Given the description of an element on the screen output the (x, y) to click on. 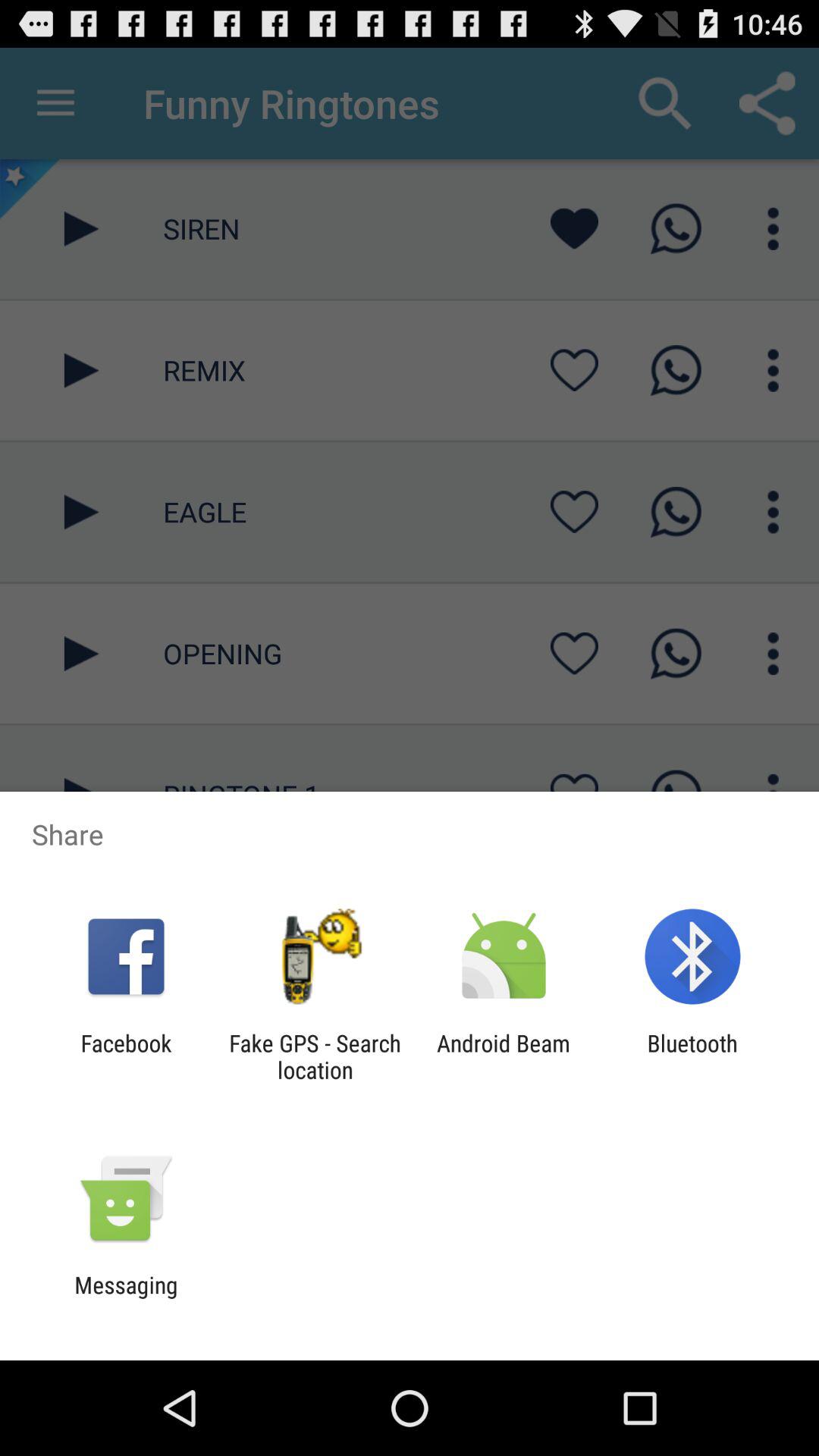
turn on bluetooth (692, 1056)
